Given the description of an element on the screen output the (x, y) to click on. 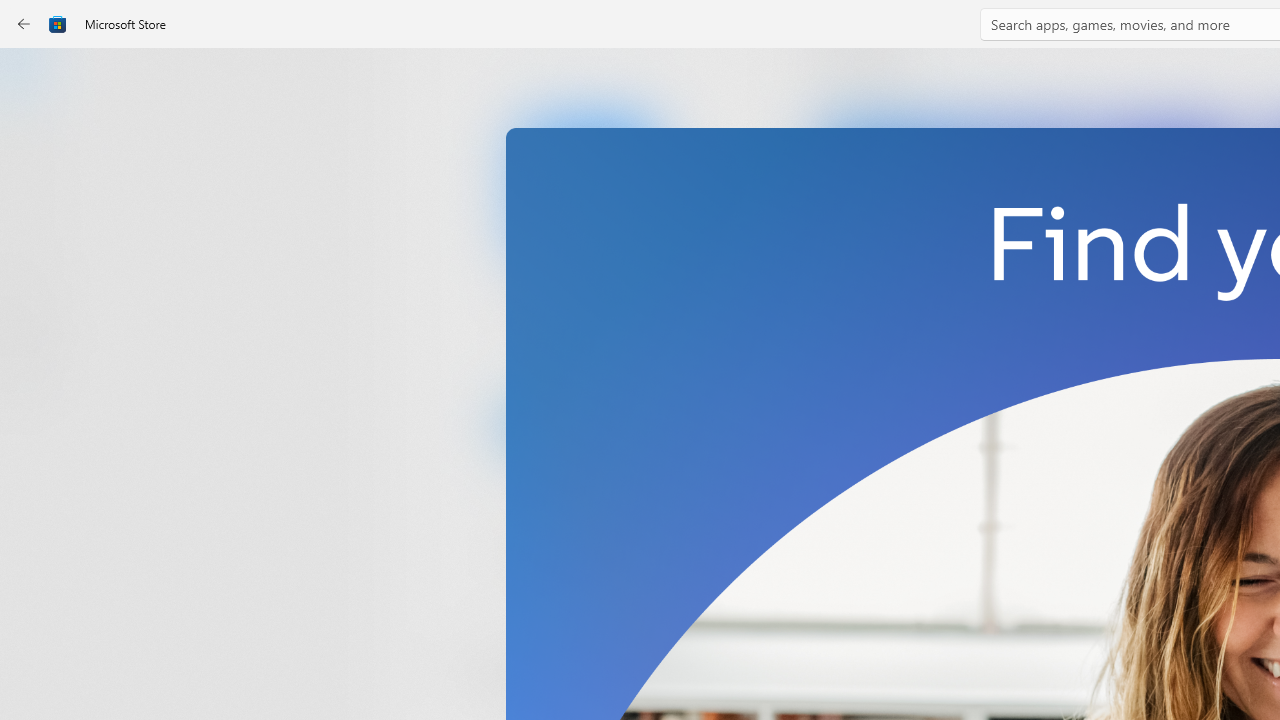
LinkedIn (585, 333)
Screenshot 1 (1029, 279)
Back (24, 24)
3.9 stars. Click to skip to ratings and reviews (542, 556)
Get (586, 424)
